Given the description of an element on the screen output the (x, y) to click on. 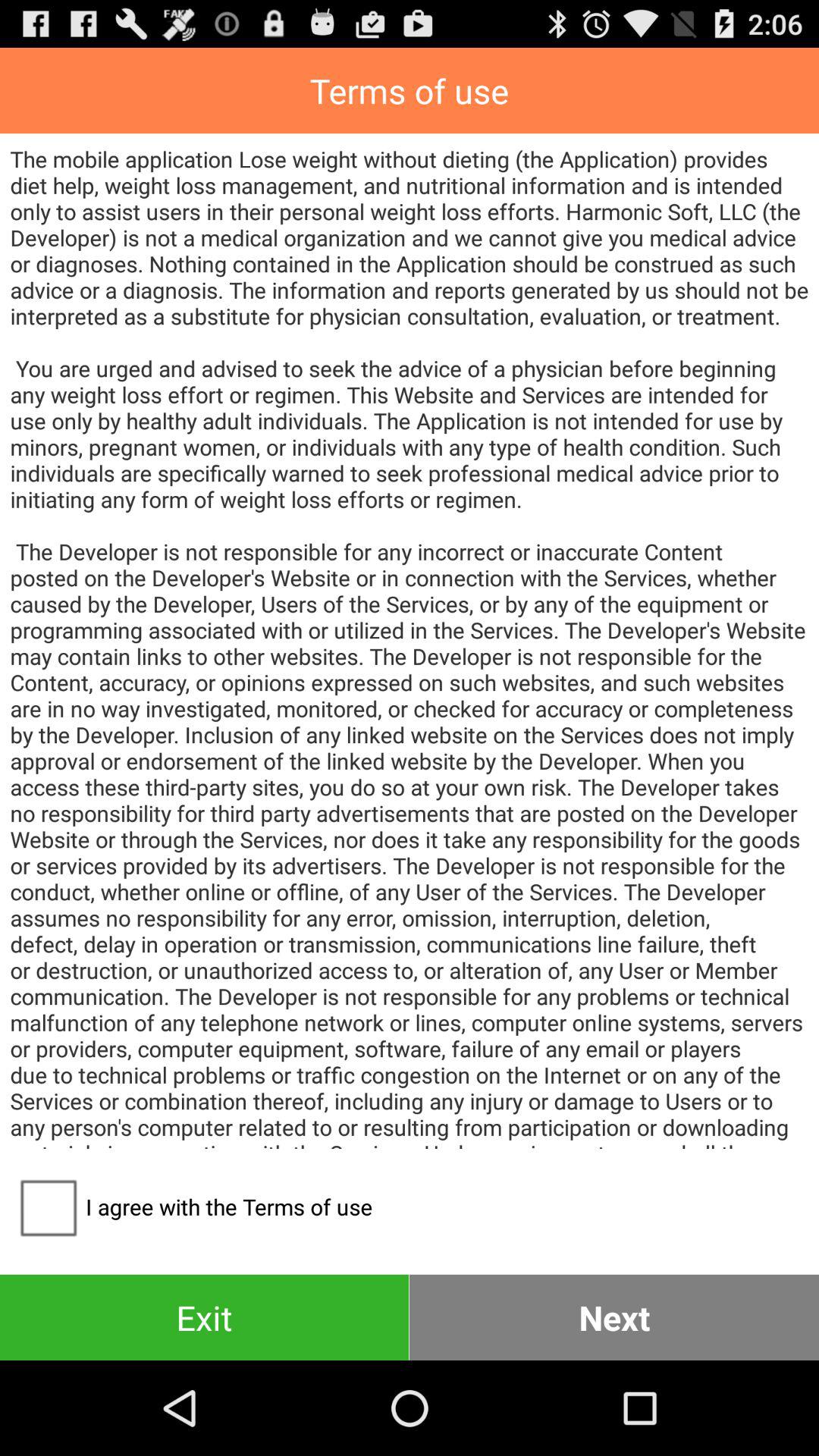
flip to the exit (204, 1317)
